Given the description of an element on the screen output the (x, y) to click on. 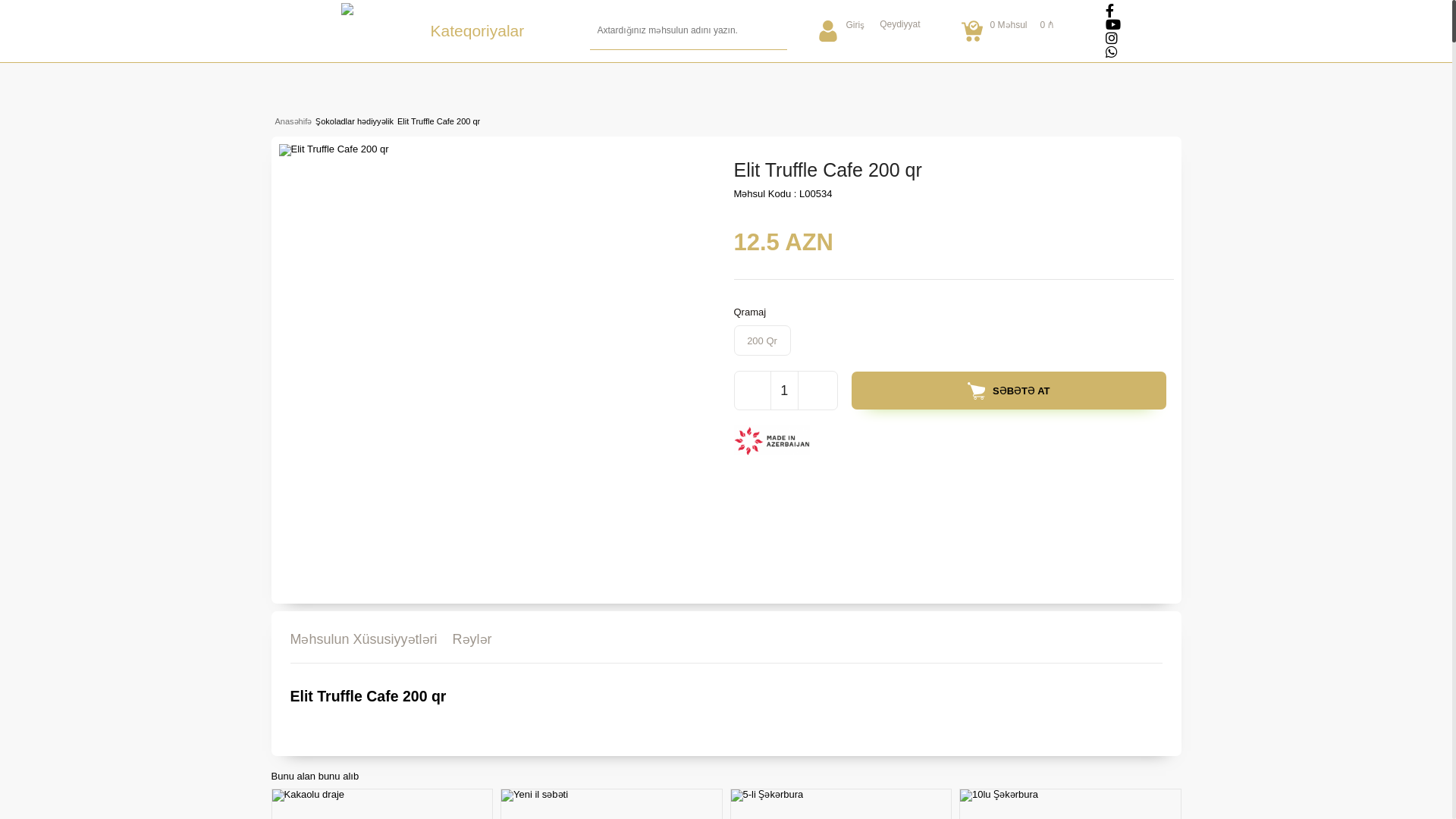
200 Qr Element type: text (762, 340)
+ Element type: hover (815, 390)
Elit Truffle Cafe 200 qr Element type: hover (334, 150)
Qeydiyyat Element type: text (899, 23)
Kakaolu draje Element type: hover (307, 795)
Yerli Istehsal Element type: hover (775, 444)
Elit Truffle Cafe 200 qr Element type: text (436, 120)
- Element type: hover (752, 390)
